Given the description of an element on the screen output the (x, y) to click on. 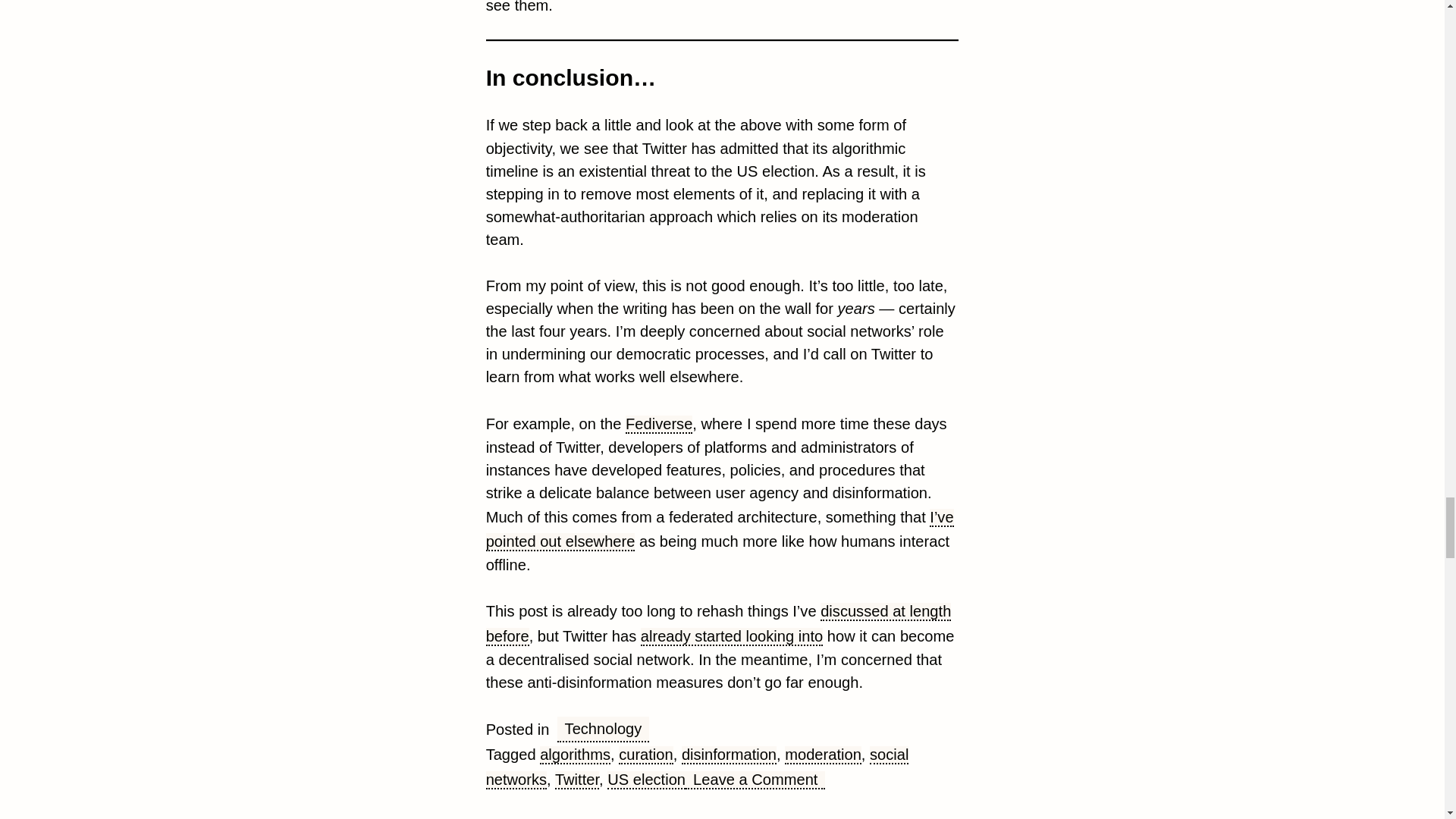
discussed at length before (719, 623)
Fediverse (659, 424)
already started looking into (731, 637)
